Given the description of an element on the screen output the (x, y) to click on. 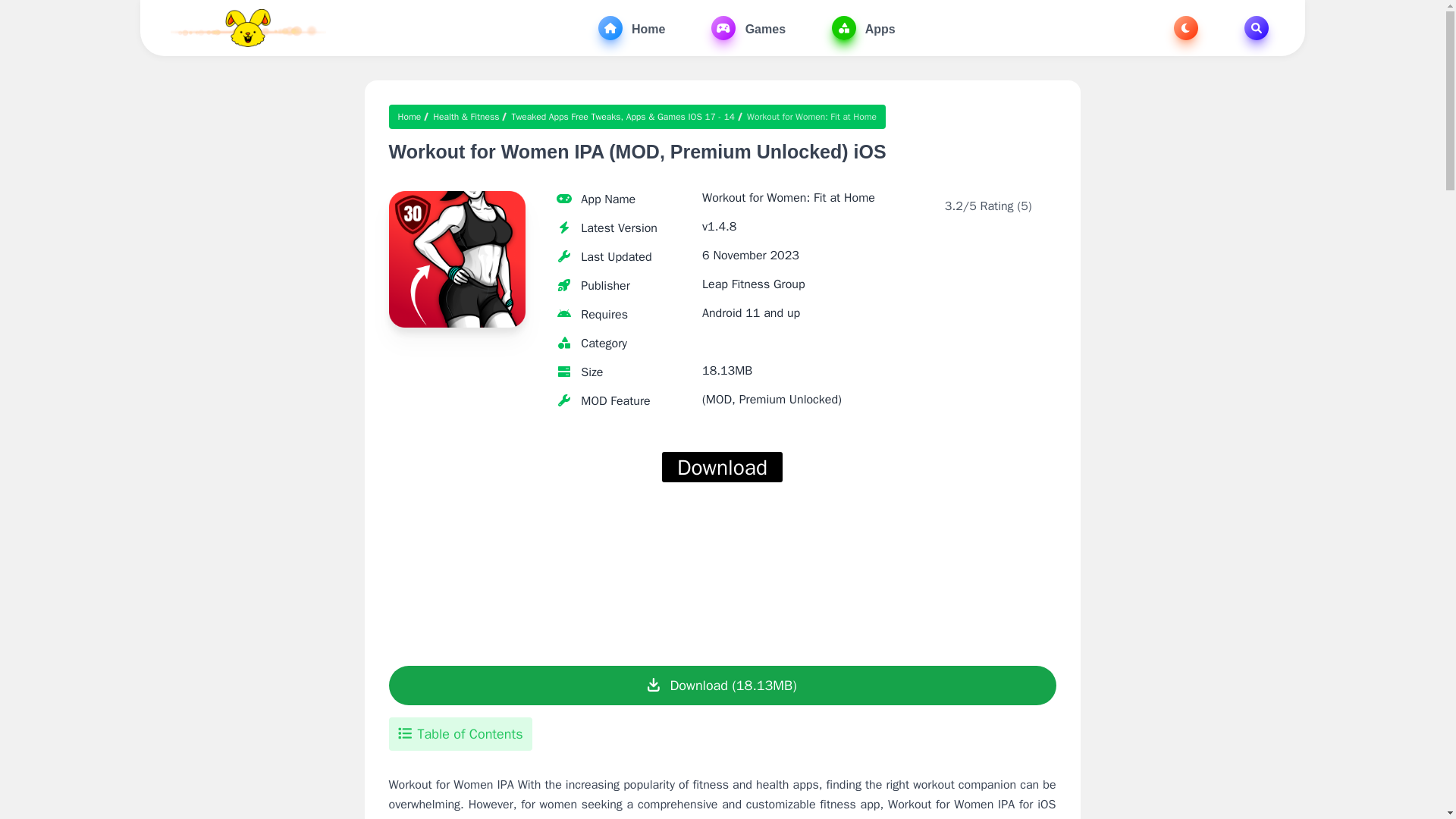
Toggle Dark Mode (1185, 27)
Games (748, 27)
Toggle Search (1255, 27)
Table of Contents (459, 734)
Home (631, 27)
Home (411, 116)
Apps (863, 27)
Download (722, 467)
